Given the description of an element on the screen output the (x, y) to click on. 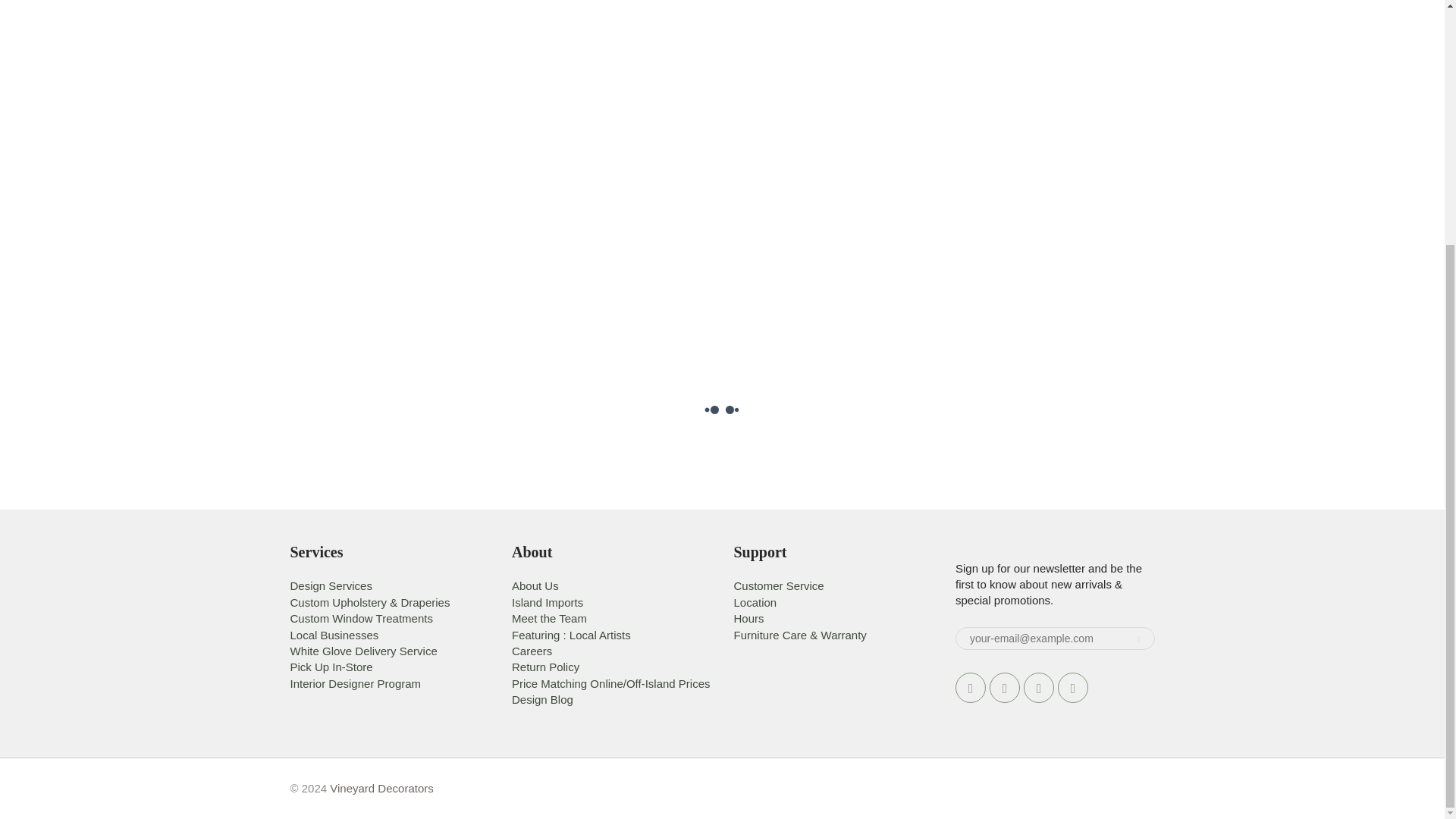
Pinterest (1005, 687)
Facebook (970, 687)
Instagram (1038, 687)
Houzz (1072, 687)
